Given the description of an element on the screen output the (x, y) to click on. 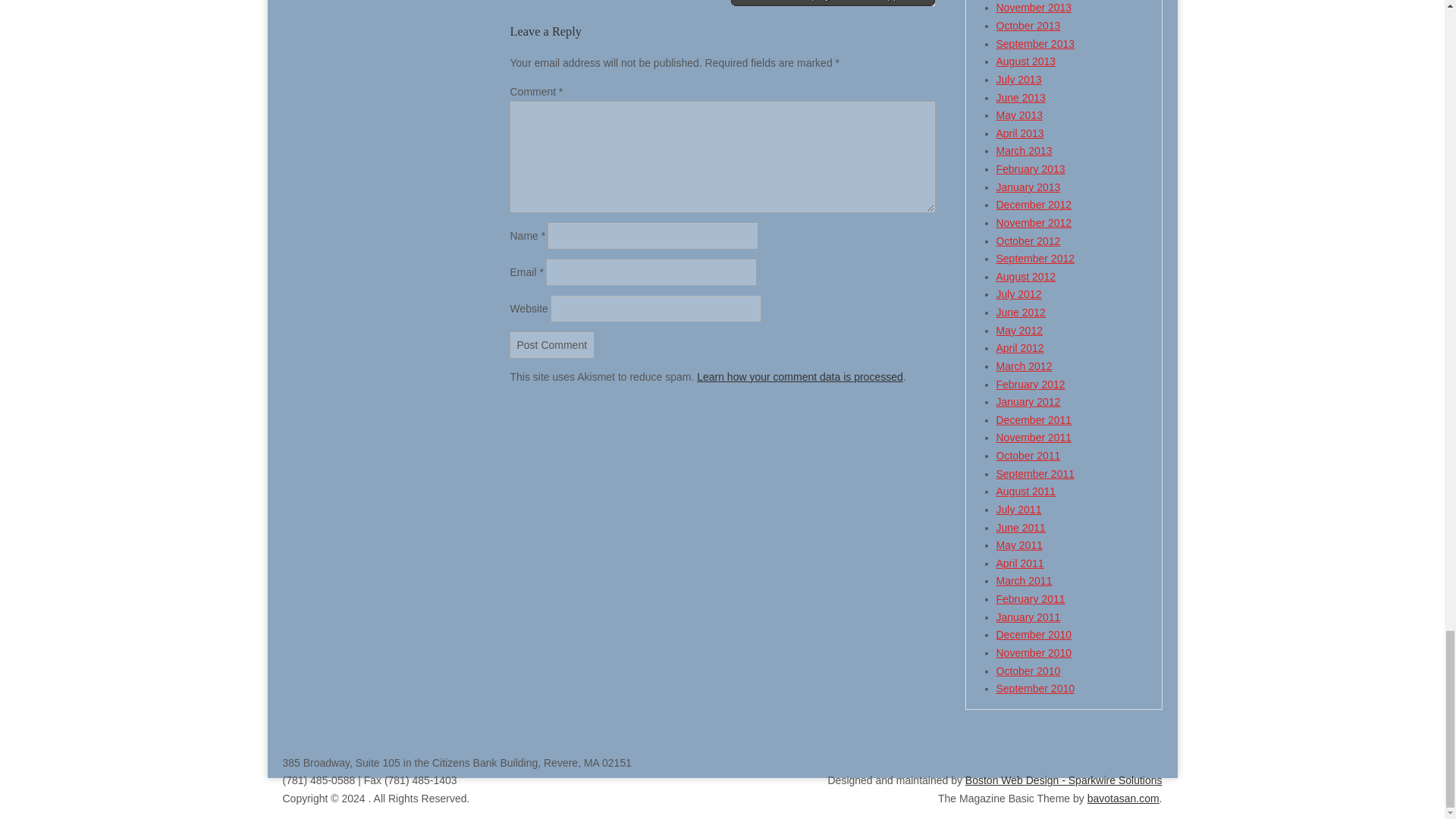
Post Comment (551, 344)
Post Comment (551, 344)
Learn how your comment data is processed (799, 377)
